Given the description of an element on the screen output the (x, y) to click on. 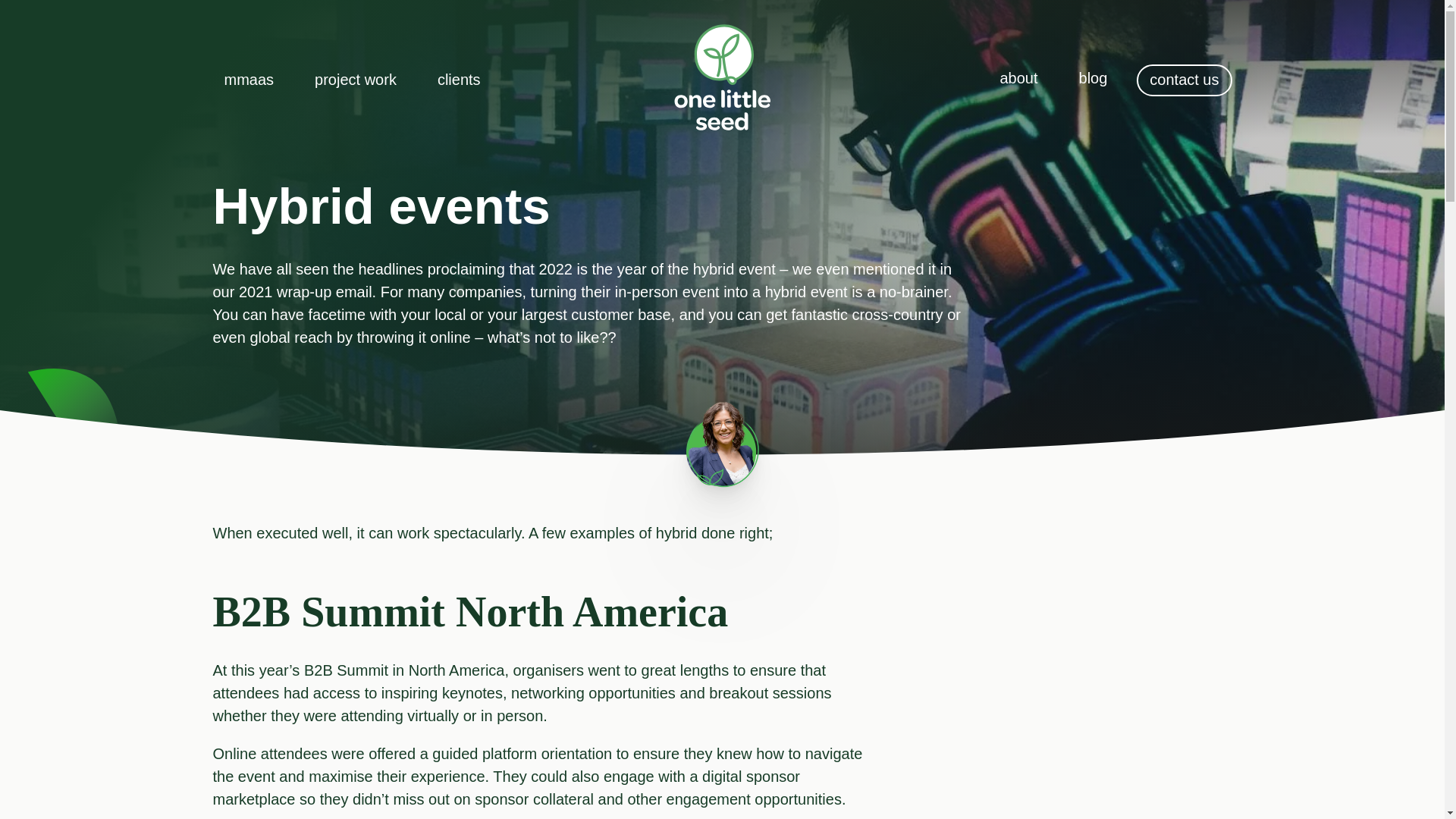
contact us (1184, 80)
project work (354, 80)
mmaas (248, 80)
about (1018, 78)
blog (1093, 78)
clients (459, 80)
